Given the description of an element on the screen output the (x, y) to click on. 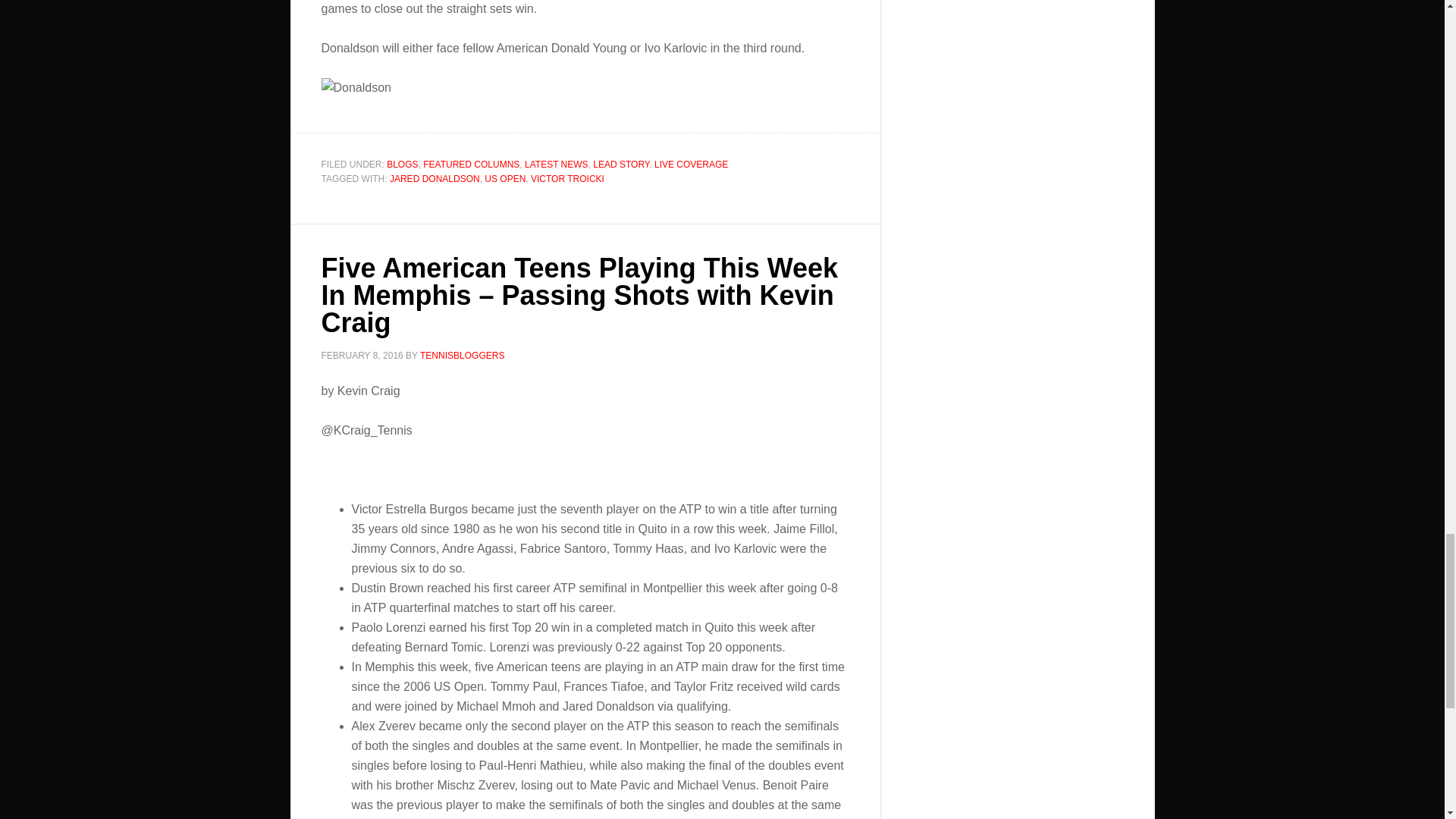
VICTOR TROICKI (567, 178)
LEAD STORY (620, 163)
TENNISBLOGGERS (461, 355)
LIVE COVERAGE (690, 163)
US OPEN (504, 178)
BLOGS (402, 163)
FEATURED COLUMNS (471, 163)
LATEST NEWS (556, 163)
JARED DONALDSON (435, 178)
